Given the description of an element on the screen output the (x, y) to click on. 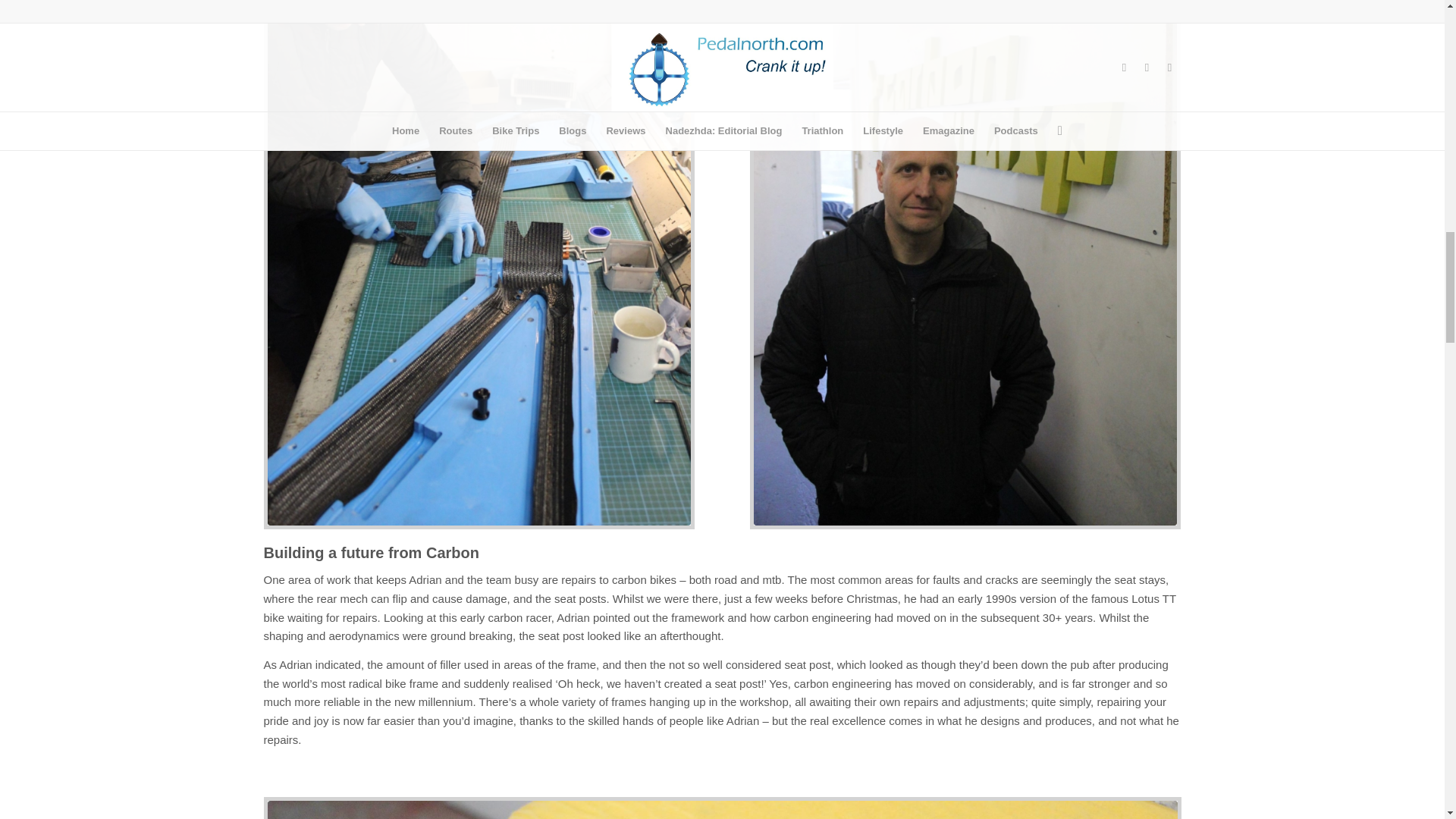
Carbon Wasp 3 (721, 809)
